Given the description of an element on the screen output the (x, y) to click on. 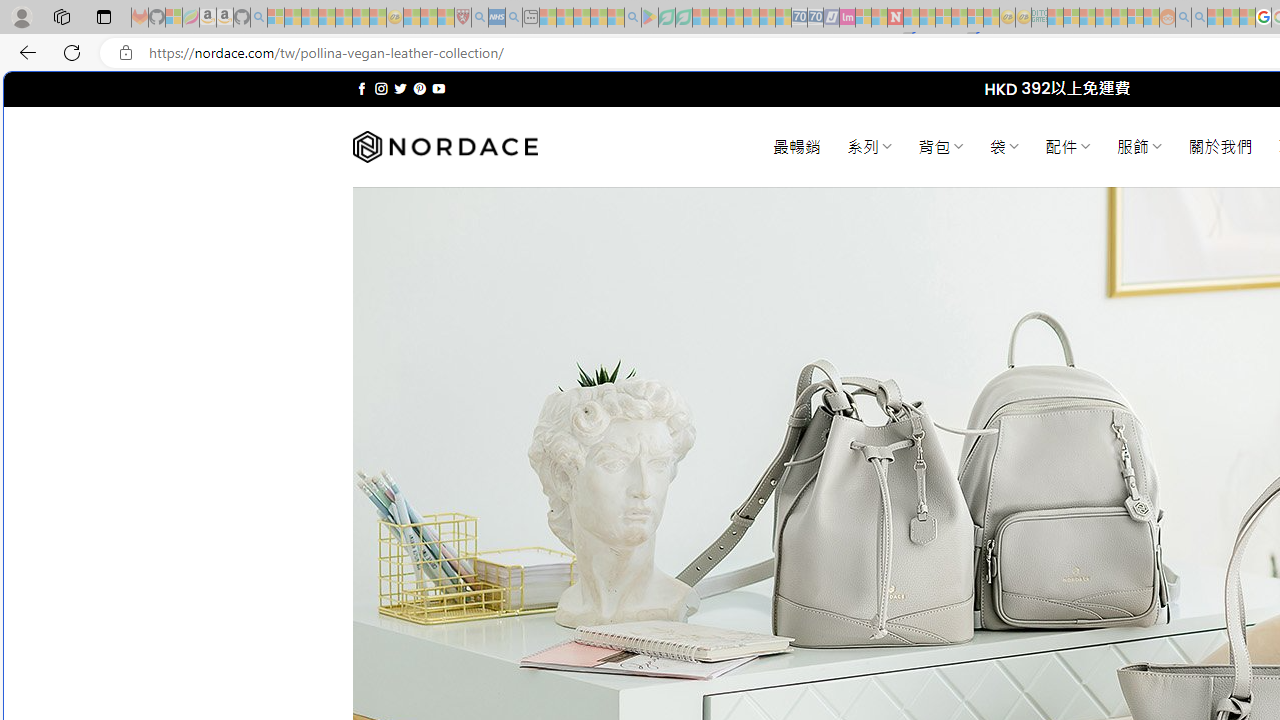
utah sues federal government - Search - Sleeping (513, 17)
Cheap Hotels - Save70.com - Sleeping (815, 17)
14 Common Myths Debunked By Scientific Facts - Sleeping (927, 17)
New Report Confirms 2023 Was Record Hot | Watch - Sleeping (343, 17)
Recipes - MSN - Sleeping (411, 17)
Jobs - lastminute.com Investor Portal - Sleeping (847, 17)
Refresh (72, 52)
google - Search - Sleeping (632, 17)
